Given the description of an element on the screen output the (x, y) to click on. 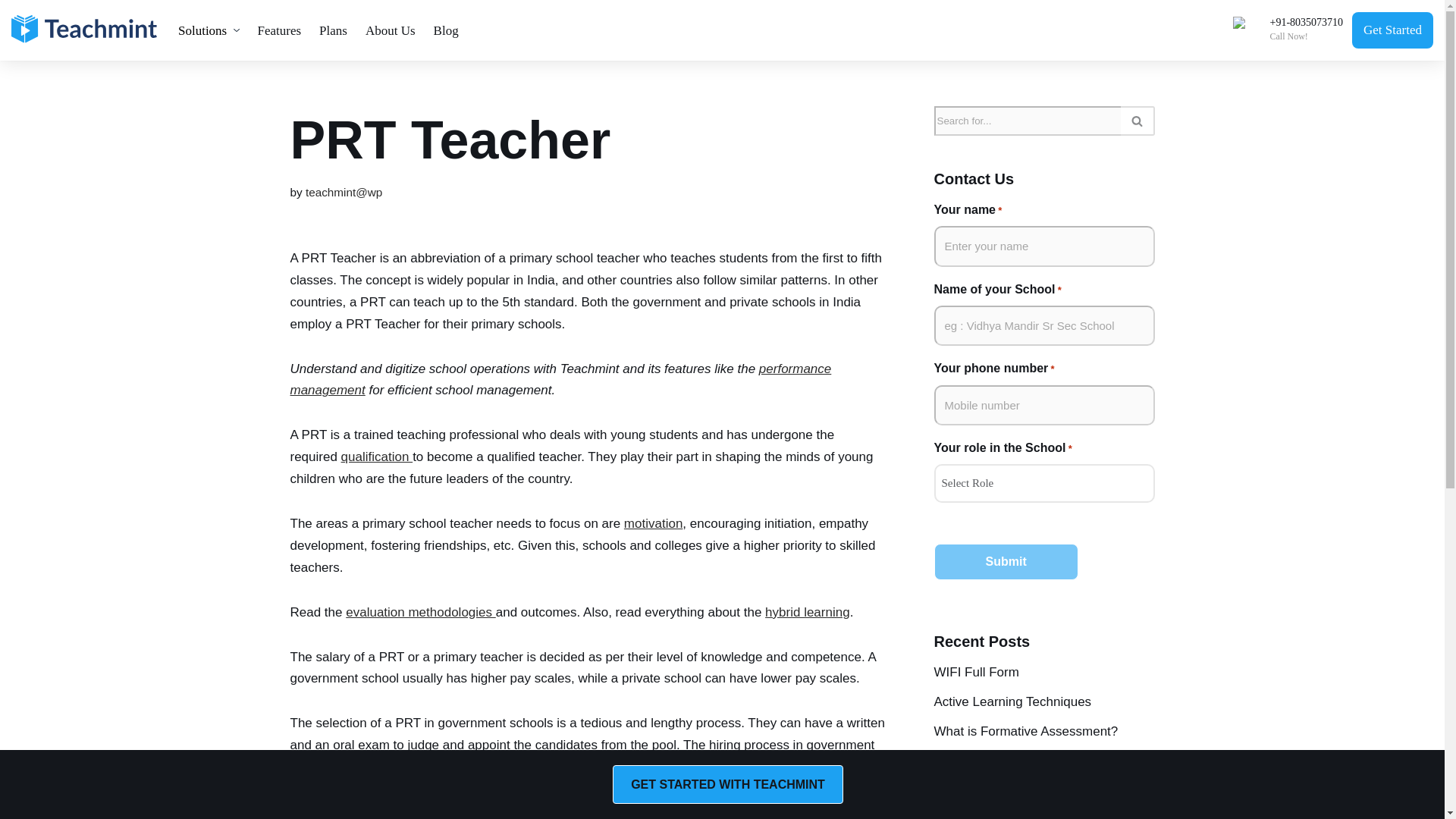
Plans (333, 30)
Features (279, 30)
Submit (1006, 561)
About Us (390, 30)
Blog (446, 30)
Skip to content (11, 31)
